Given the description of an element on the screen output the (x, y) to click on. 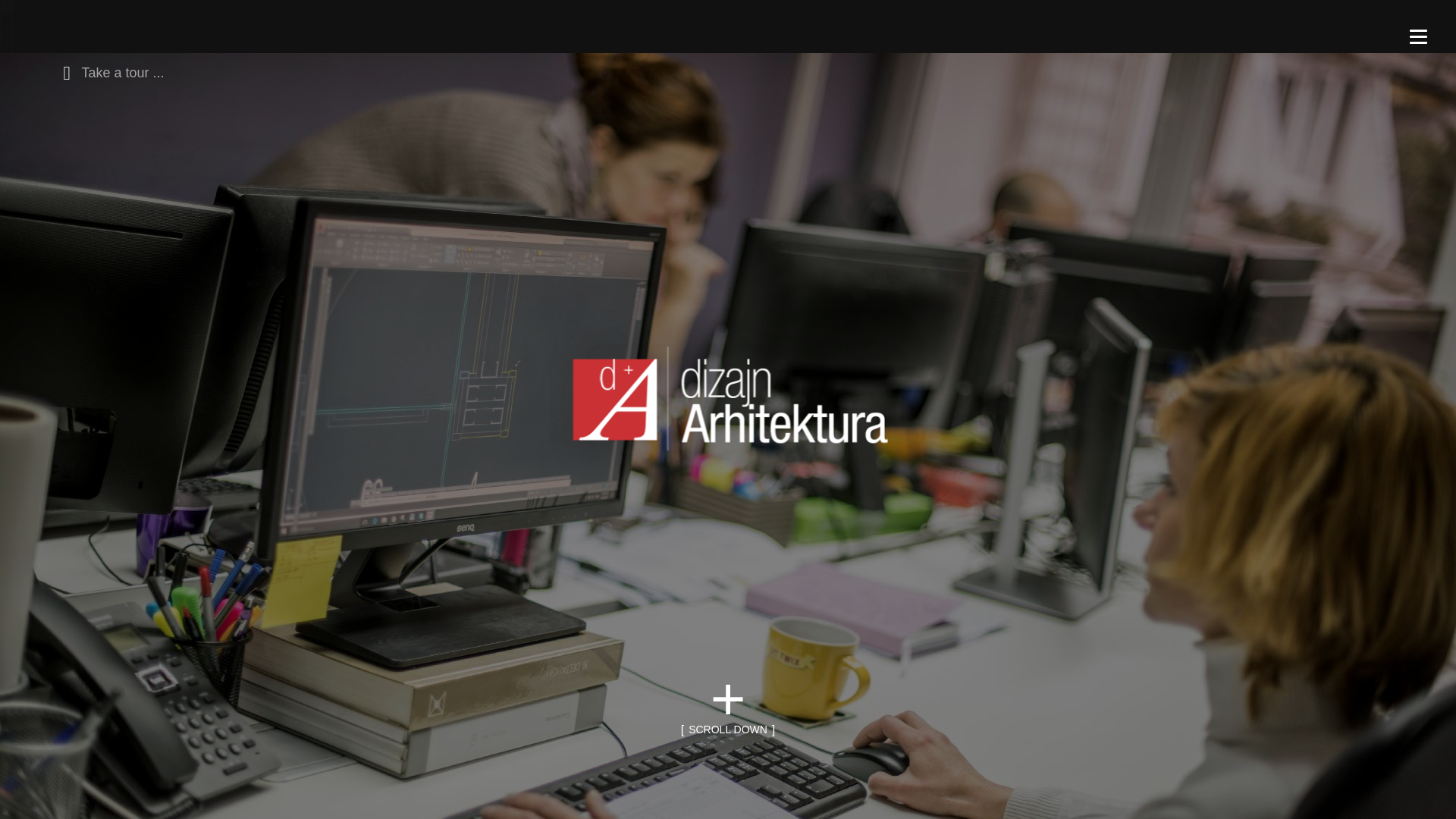
Take a tour ... (109, 70)
SCROLL DOWN (727, 730)
